Given the description of an element on the screen output the (x, y) to click on. 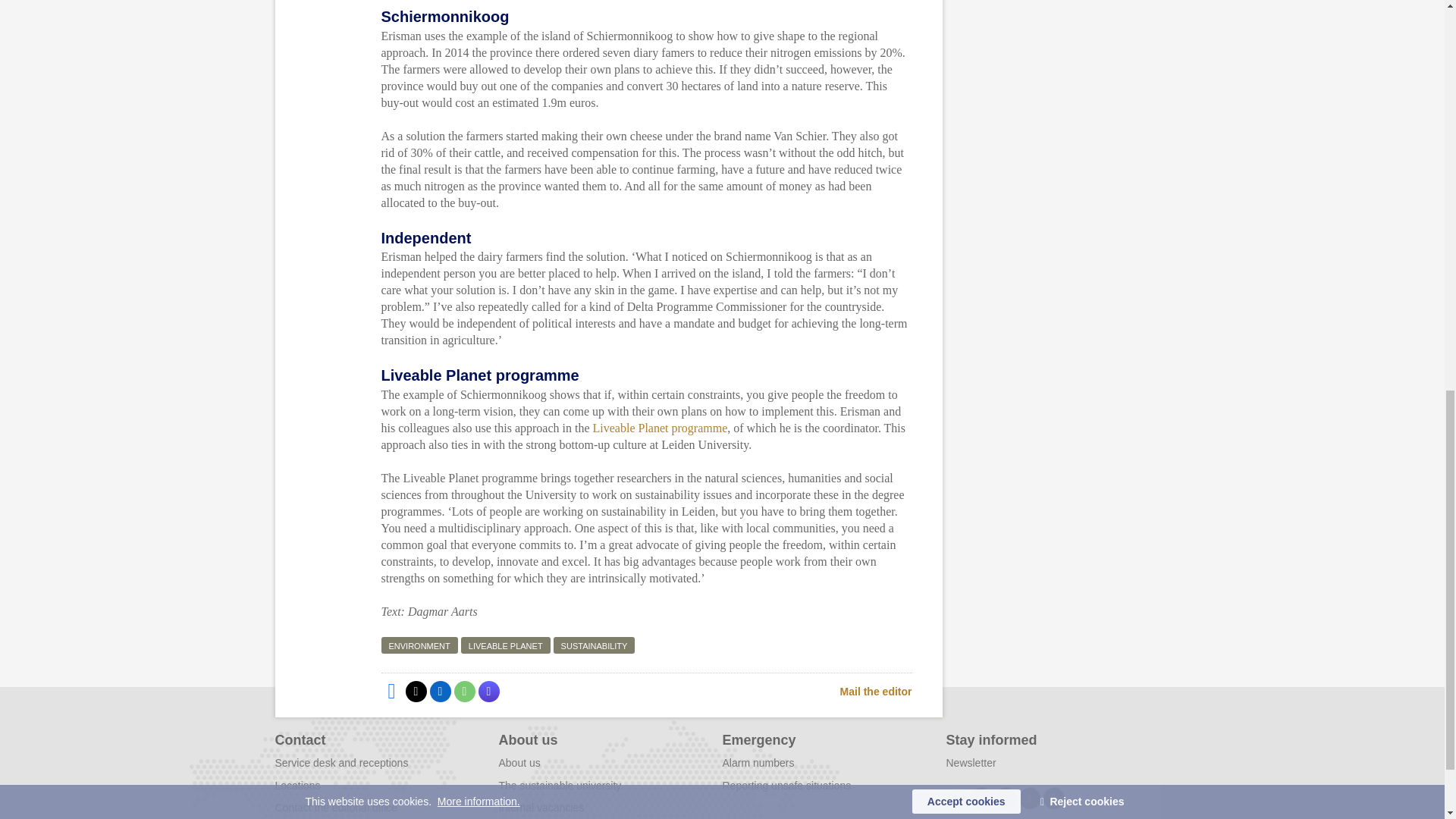
Share on X (415, 690)
Share by WhatsApp (463, 690)
Share on LinkedIn (439, 690)
ENVIRONMENT (418, 645)
SUSTAINABILITY (593, 645)
Liveable Planet programme (660, 427)
Share by Mastodon (488, 690)
LIVEABLE PLANET (505, 645)
Share on Facebook (390, 690)
Mail the editor (876, 690)
